Given the description of an element on the screen output the (x, y) to click on. 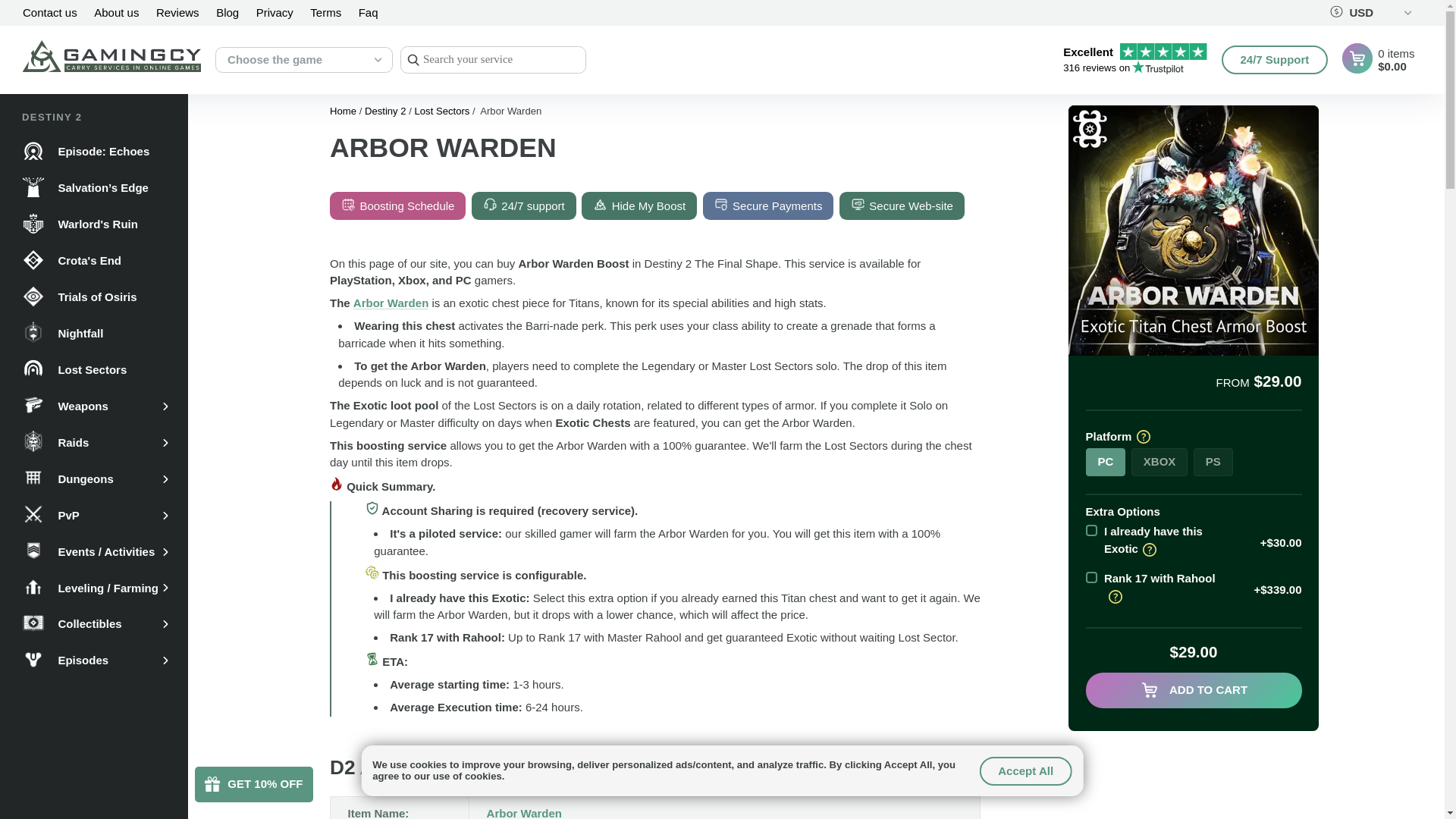
Home  (344, 111)
About us (116, 11)
Terms (325, 11)
Privacy (275, 11)
Faq (368, 11)
Contact us (50, 11)
Reviews (177, 11)
ADD TO CART (1134, 59)
Blog (1193, 690)
 Destiny 2  (226, 11)
 Lost Sectors  (385, 111)
Arbor Warden (441, 111)
Arbor Warden (524, 812)
